Given the description of an element on the screen output the (x, y) to click on. 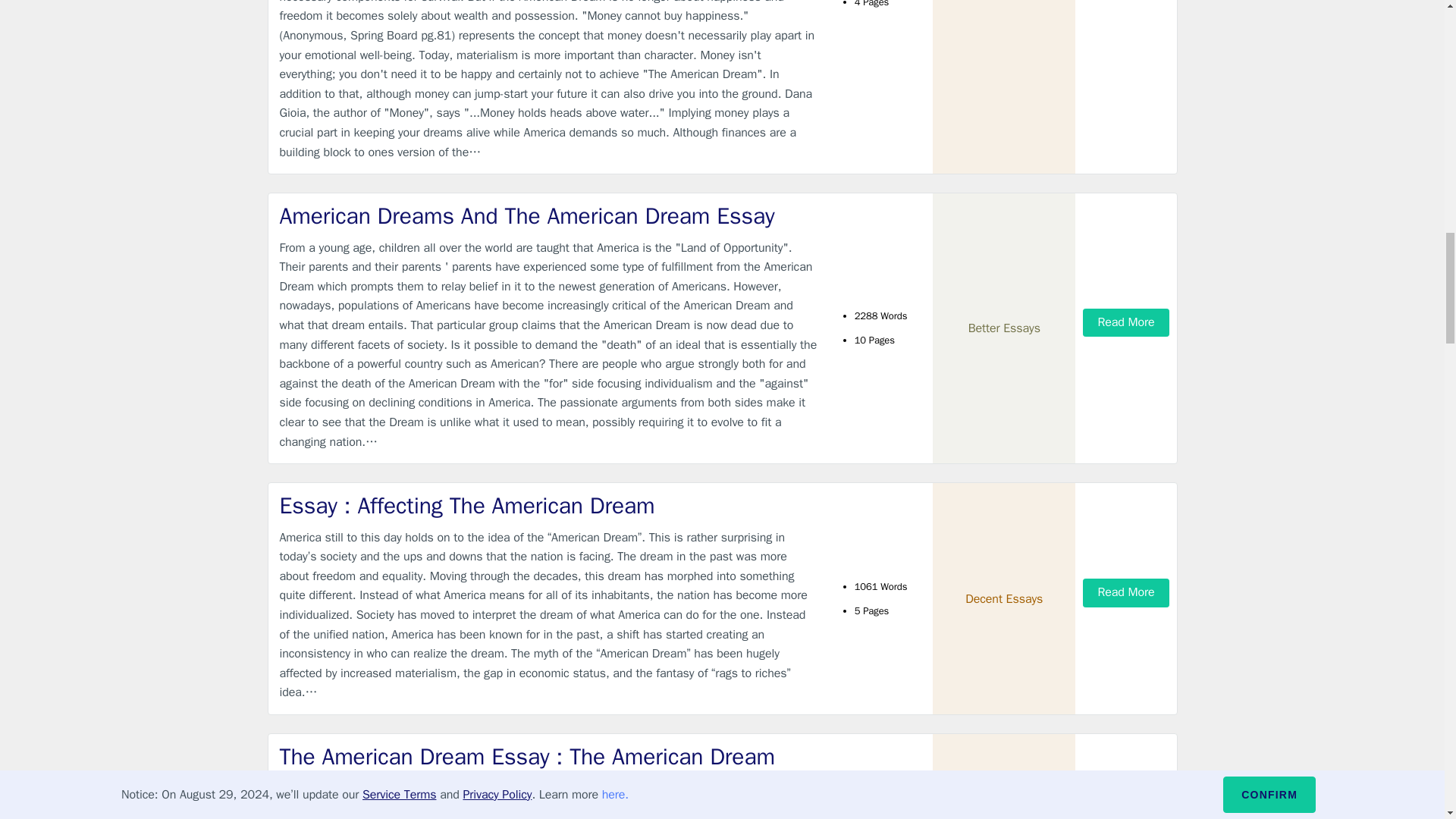
Read More (1126, 795)
The American Dream Essay : The American Dream (548, 757)
Read More (1126, 322)
Essay : Affecting The American Dream (548, 505)
American Dreams And The American Dream Essay (548, 215)
Read More (1126, 592)
